Given the description of an element on the screen output the (x, y) to click on. 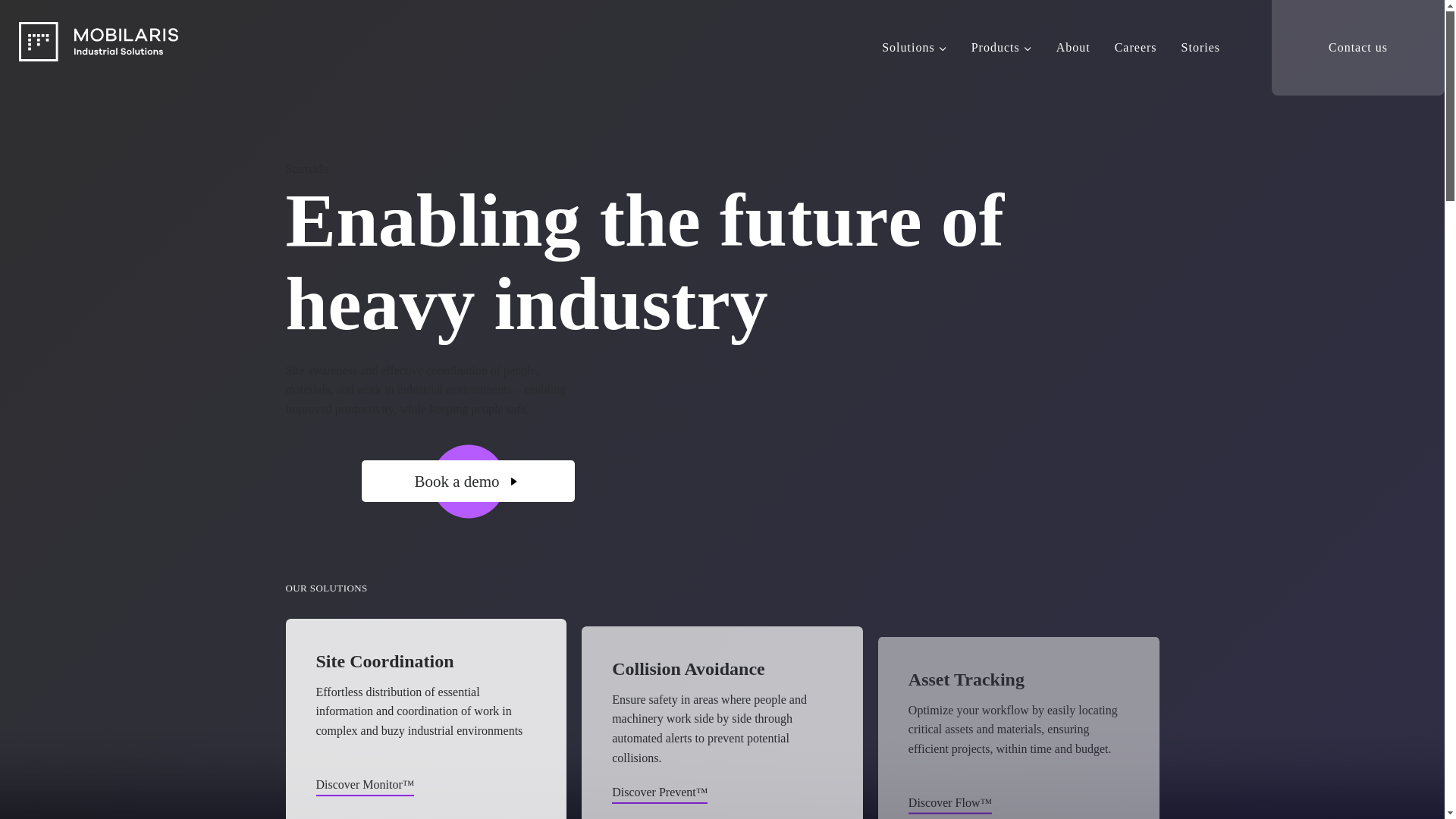
Solutions (913, 47)
Stories (1200, 47)
Careers (1135, 47)
About (1072, 47)
Products (1001, 47)
Book a demo (468, 481)
